Given the description of an element on the screen output the (x, y) to click on. 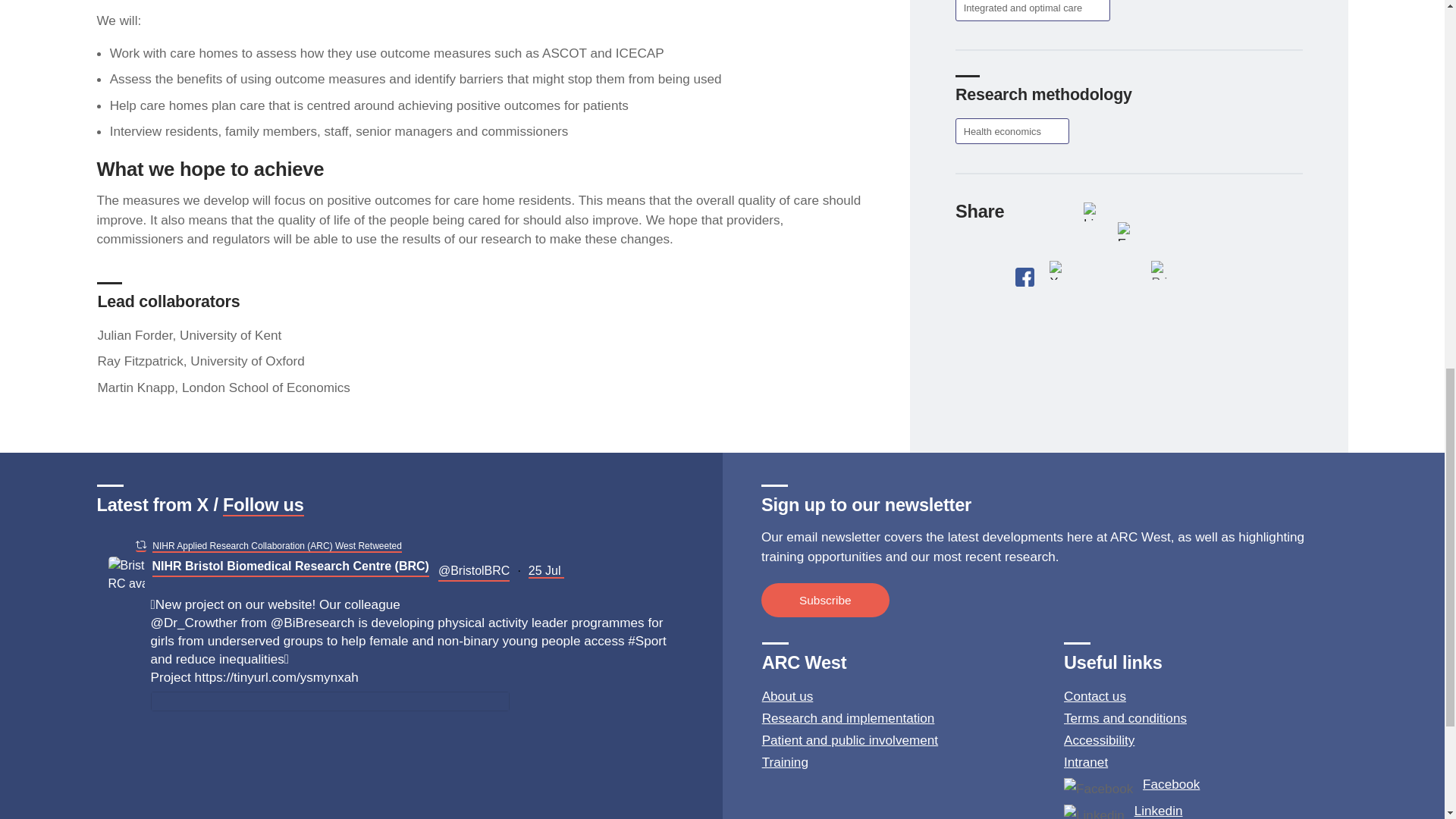
Follow us (263, 505)
; (125, 574)
Retweet on Twitter (140, 545)
